Given the description of an element on the screen output the (x, y) to click on. 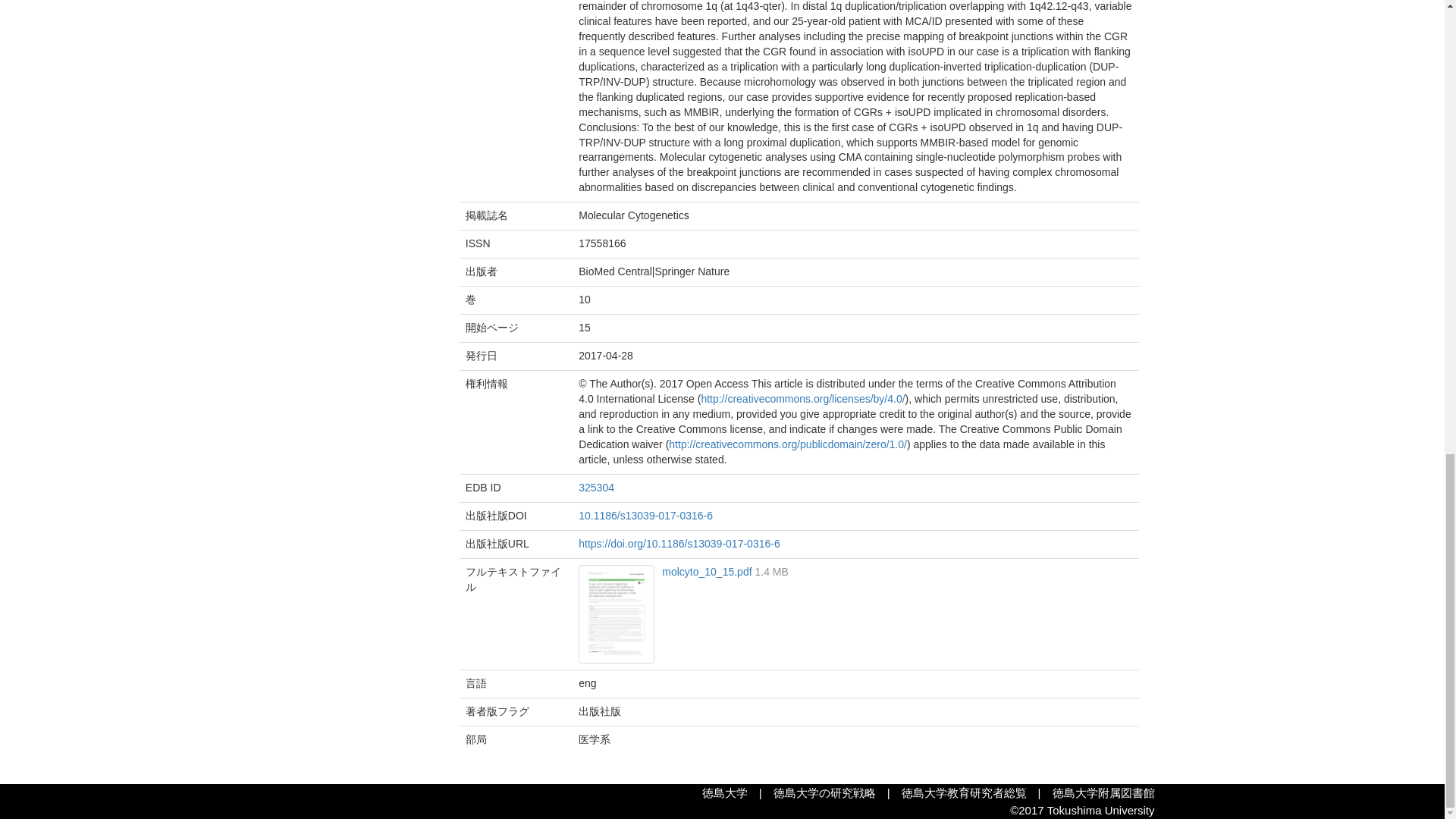
325304 (596, 487)
